Given the description of an element on the screen output the (x, y) to click on. 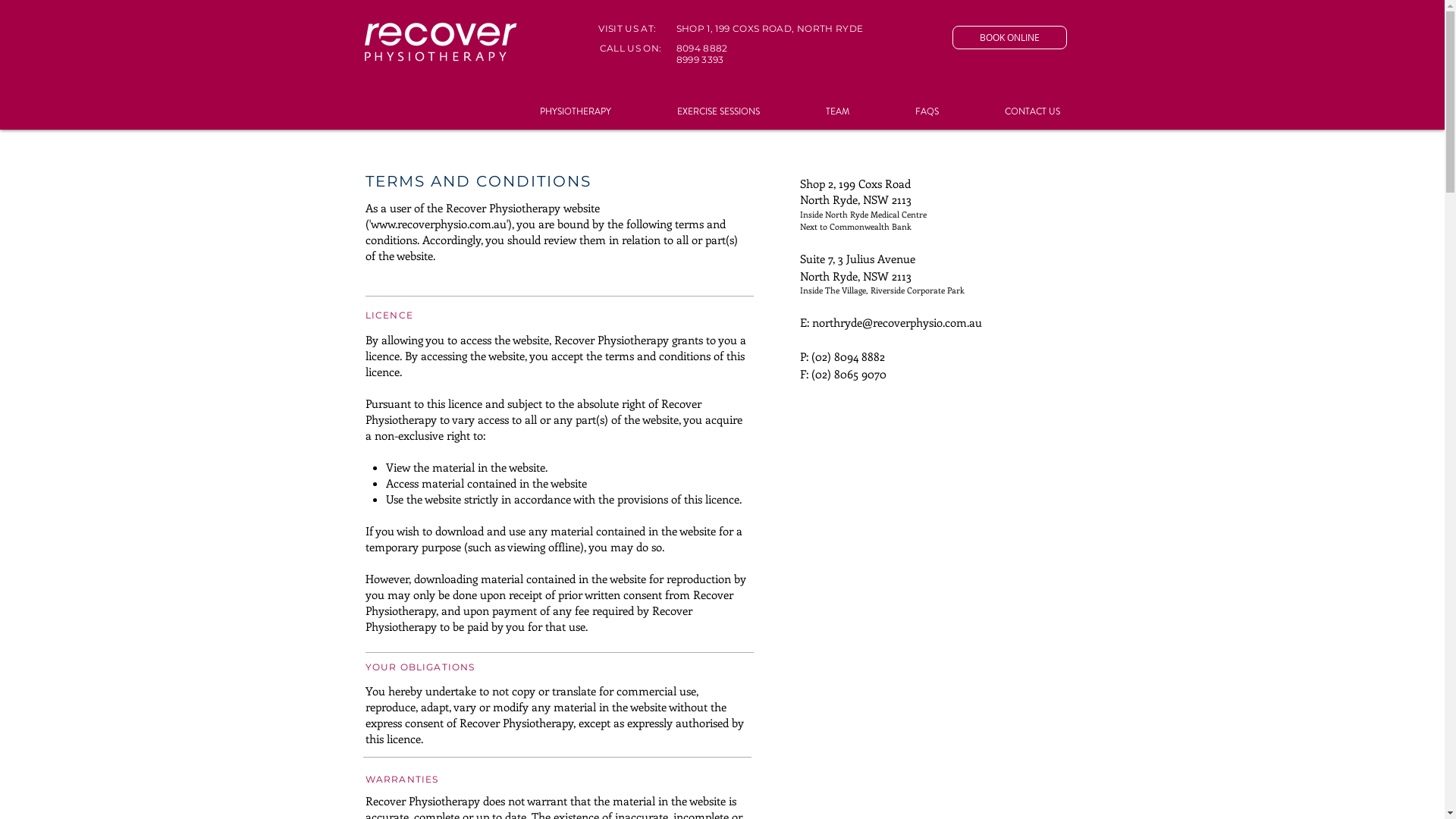
PHYSIOTHERAPY Element type: text (552, 111)
CONTACT US Element type: text (1009, 111)
TEAM Element type: text (814, 111)
BOOK ONLINE Element type: text (1009, 37)
www.recoverphysio.com.au Element type: text (437, 223)
EXERCISE SESSIONS Element type: text (695, 111)
FAQS Element type: text (904, 111)
Recover-master-rev-logo.png Element type: hover (438, 40)
